Given the description of an element on the screen output the (x, y) to click on. 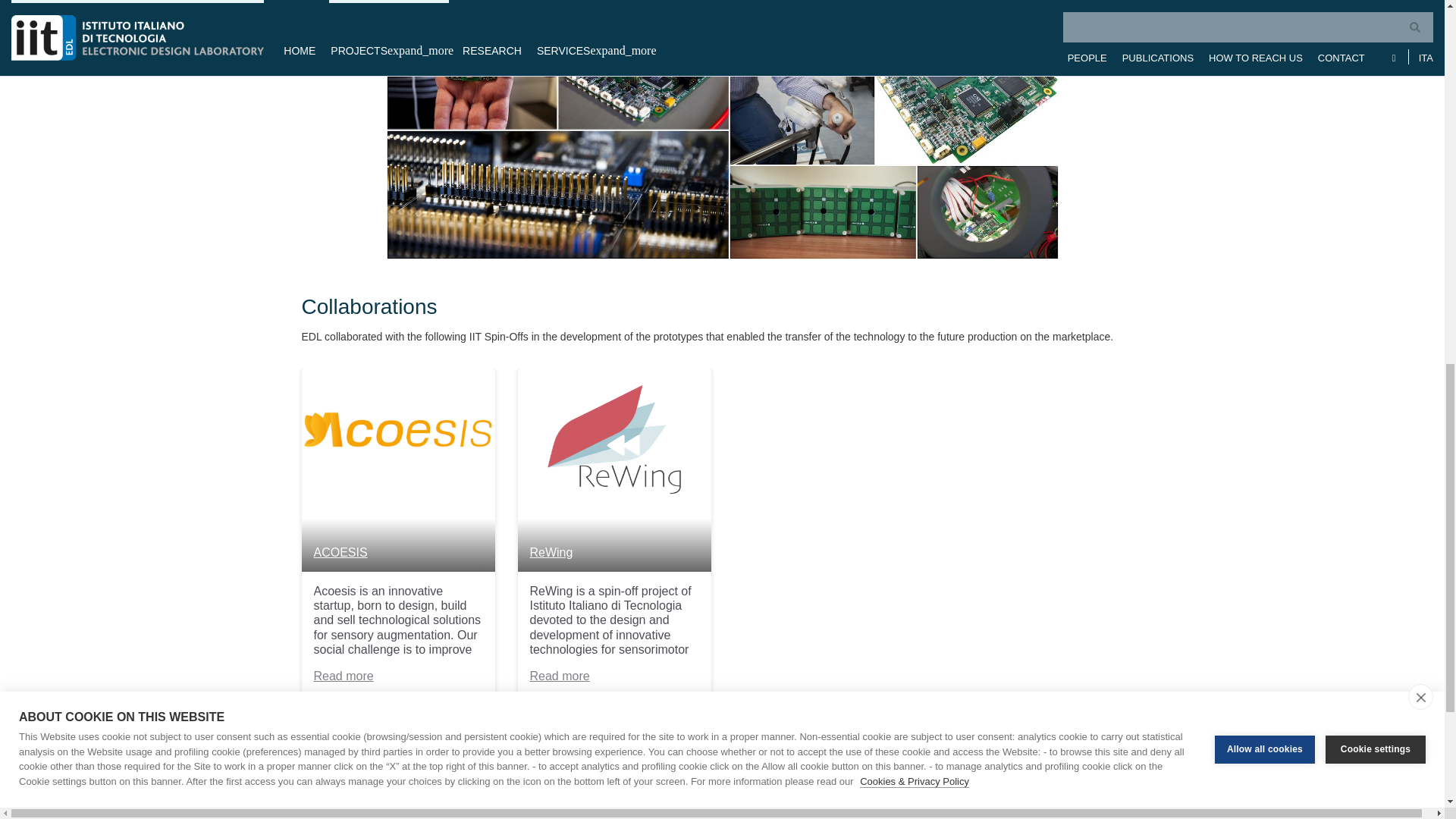
Facebook (613, 807)
